Given the description of an element on the screen output the (x, y) to click on. 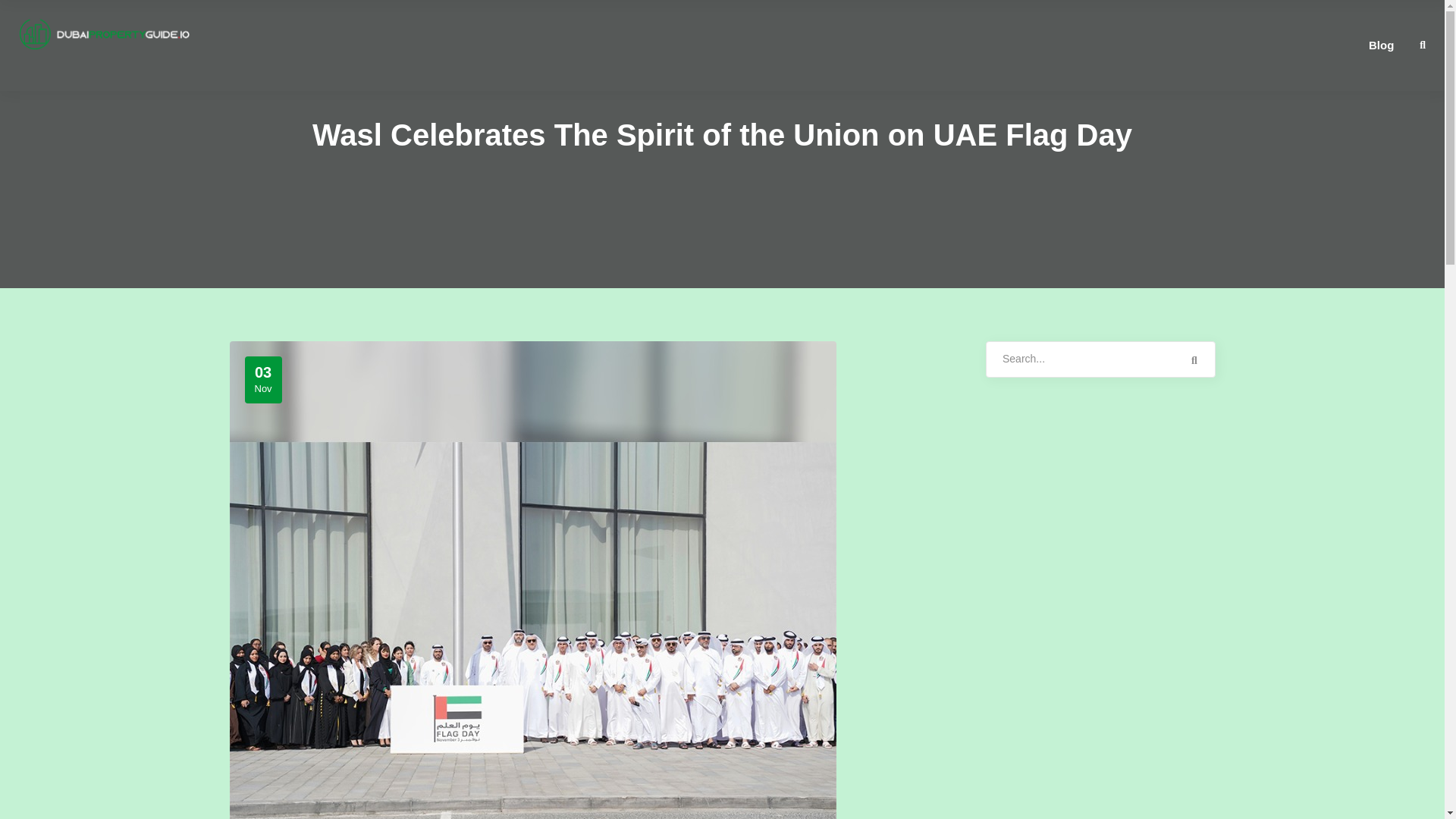
Search for: (1100, 359)
